Given the description of an element on the screen output the (x, y) to click on. 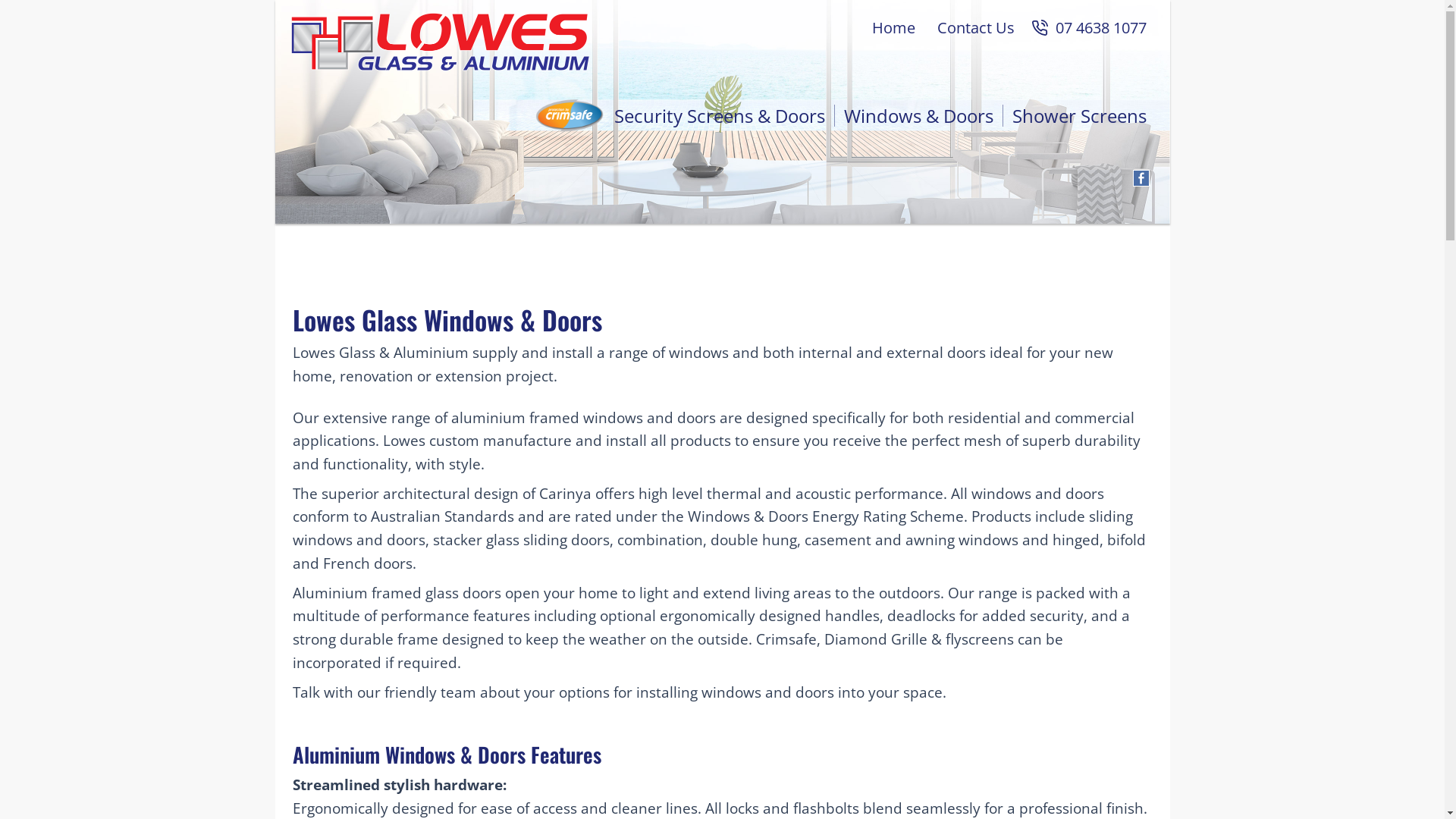
Windows & Doors Element type: text (917, 115)
Contact Us Element type: text (975, 27)
Open the Lowes Glass & Aluminium Facebook page Element type: hover (1140, 177)
Shower Screens Element type: text (1078, 115)
Home Element type: text (893, 27)
07 4638 1077 Element type: text (1100, 27)
Security Screens & Doors Element type: text (680, 115)
